Given the description of an element on the screen output the (x, y) to click on. 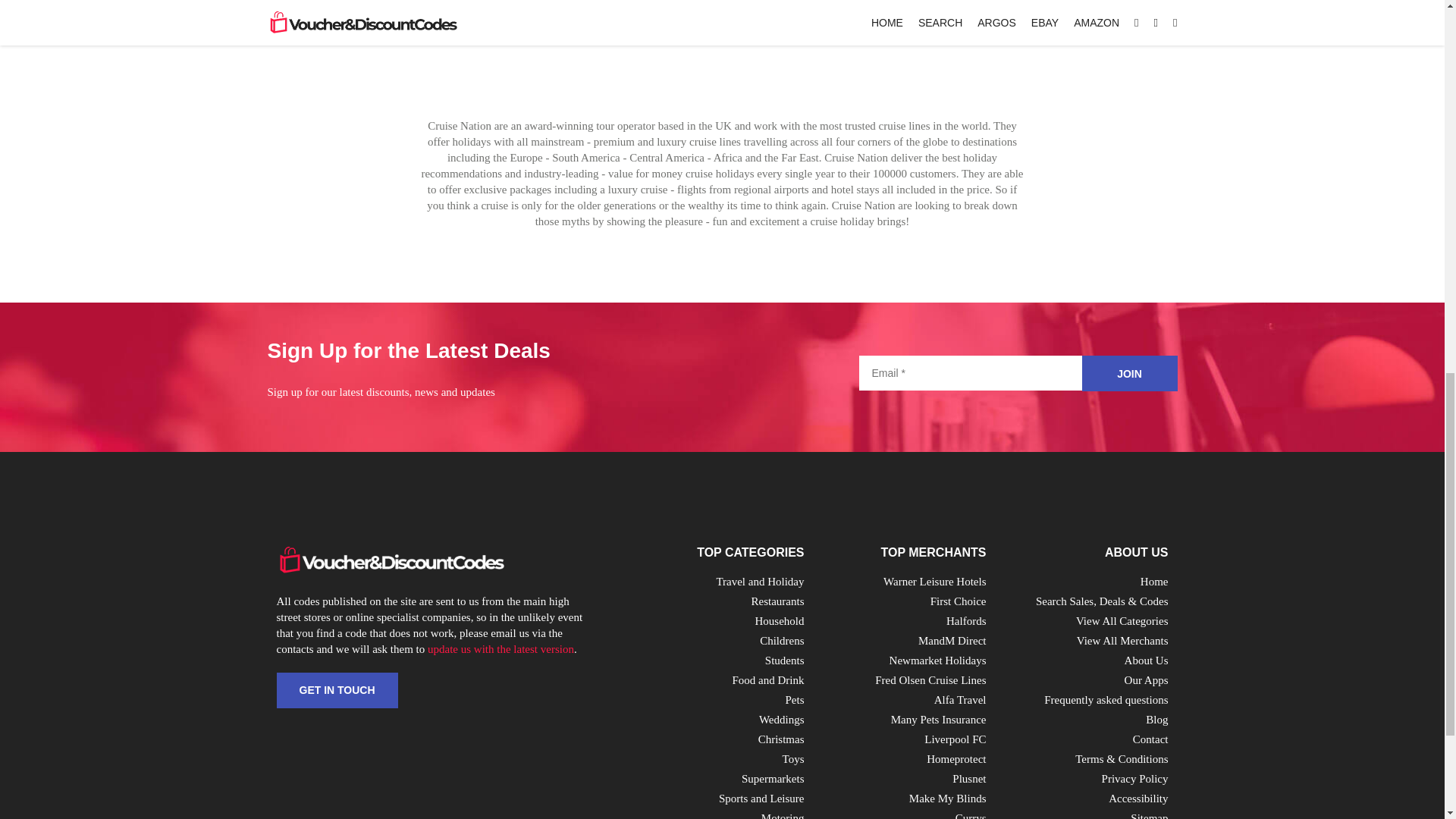
Share by Email (894, 22)
Join (1128, 373)
Share on Facebook (550, 22)
Share on Facebook (764, 22)
Tweet (614, 22)
Share by Email (680, 22)
Tweet (828, 22)
